Given the description of an element on the screen output the (x, y) to click on. 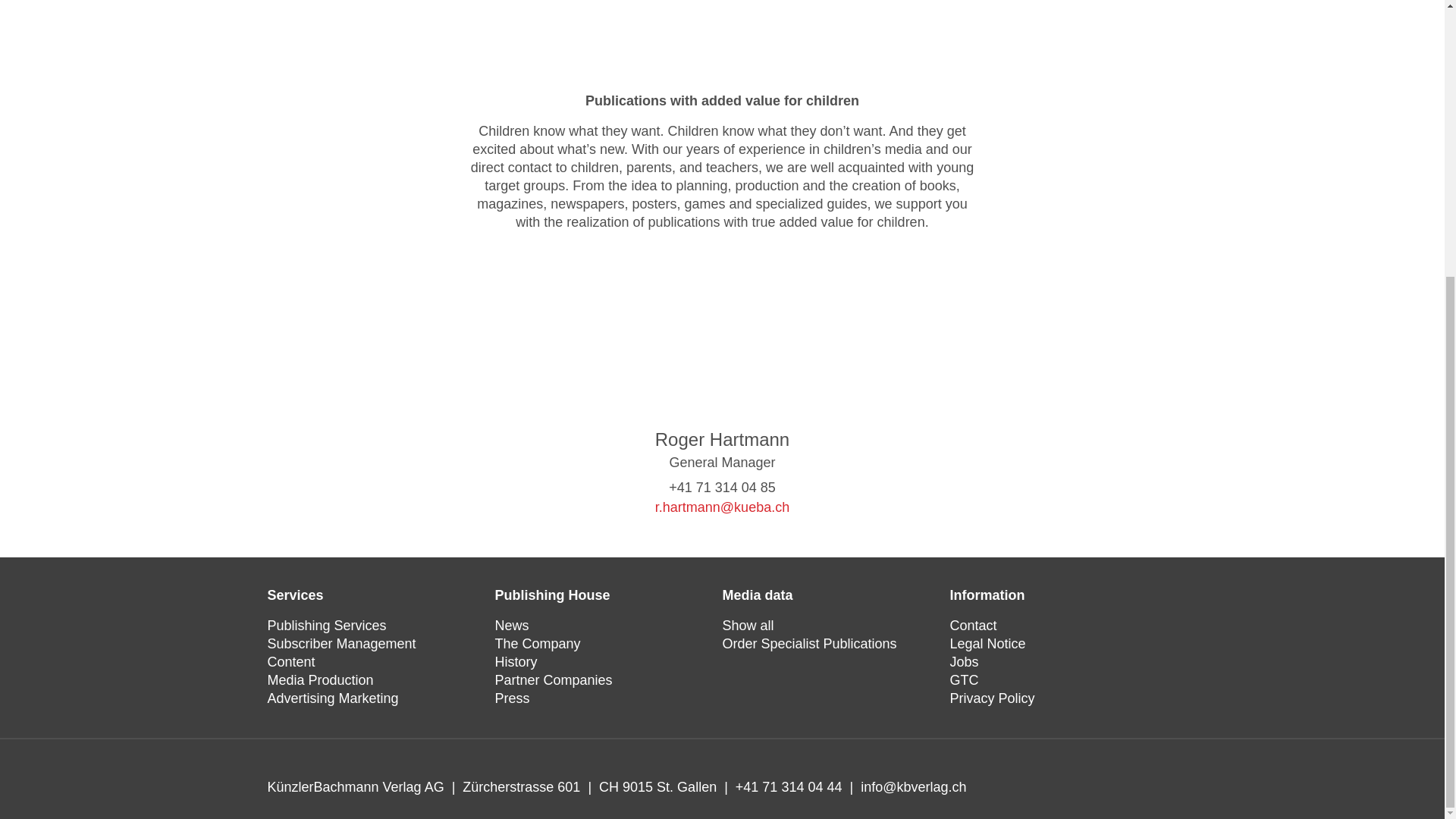
mitarbeiter-roger-hartmann-v2 (721, 356)
bild-homegrid-04-v2 (722, 34)
